Given the description of an element on the screen output the (x, y) to click on. 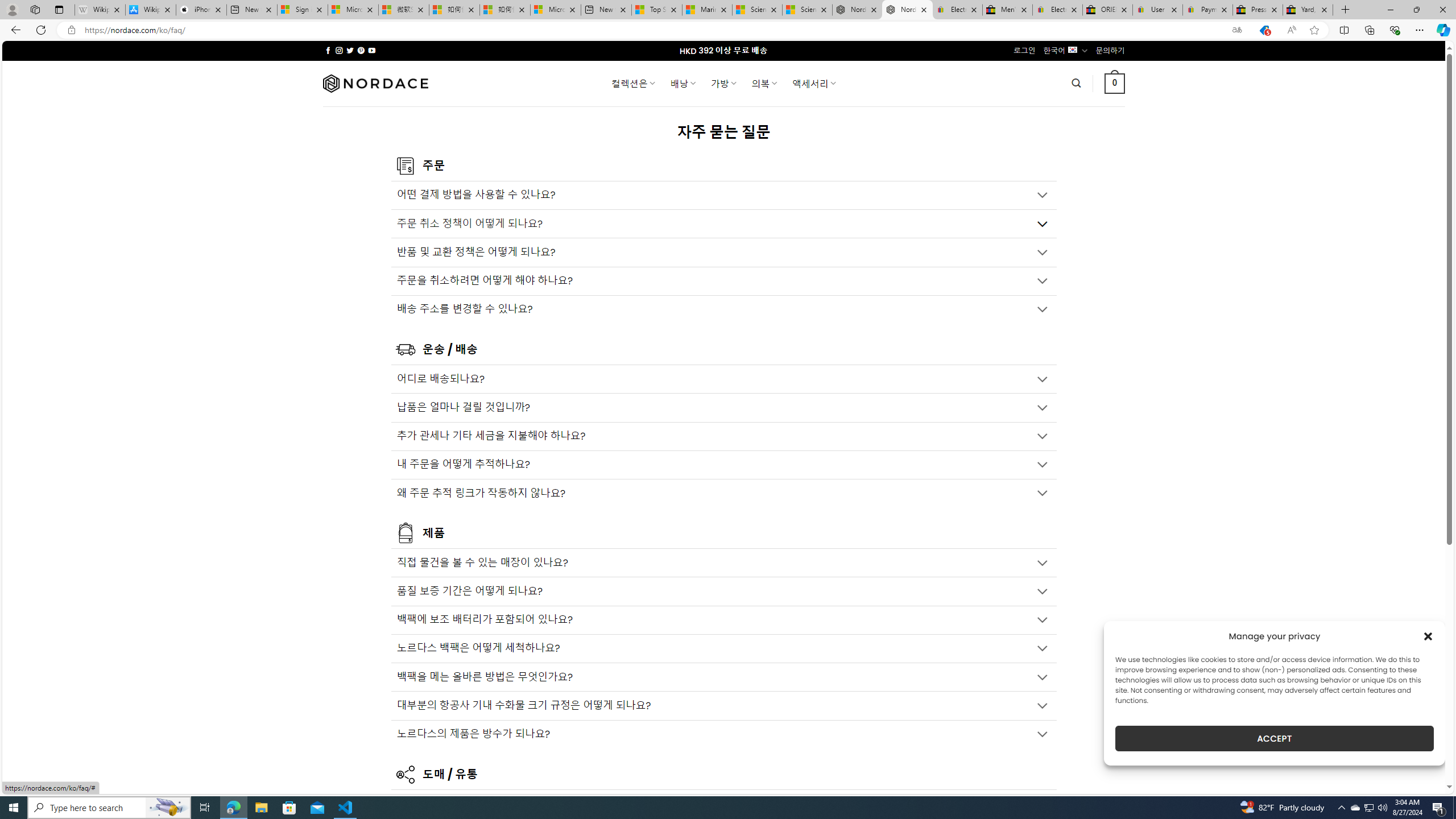
iPhone - Apple (201, 9)
  0   (1115, 83)
Follow on YouTube (371, 50)
Marine life - MSN (706, 9)
Microsoft account | Account Checkup (555, 9)
